Given the description of an element on the screen output the (x, y) to click on. 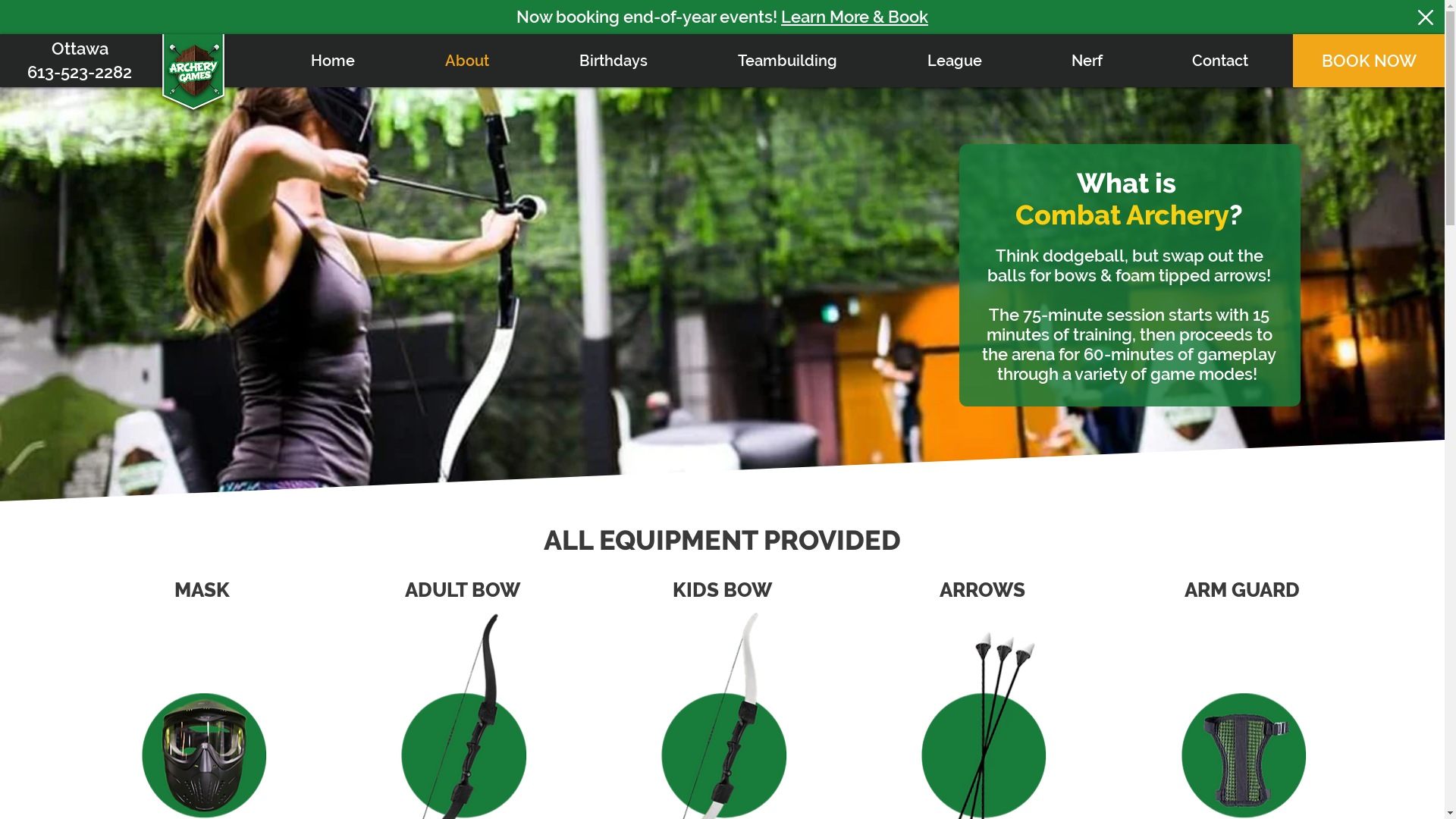
BOOK NOW Element type: text (1368, 60)
Birthdays Element type: text (612, 60)
About Element type: text (466, 60)
Home Element type: text (332, 60)
Ottawa Element type: text (79, 48)
Teambuilding Element type: text (786, 60)
League Element type: text (953, 60)
Learn More & Book Element type: text (854, 16)
613-523-2282 Element type: text (79, 72)
Nerf Element type: text (1086, 60)
Contact Element type: text (1219, 60)
